Given the description of an element on the screen output the (x, y) to click on. 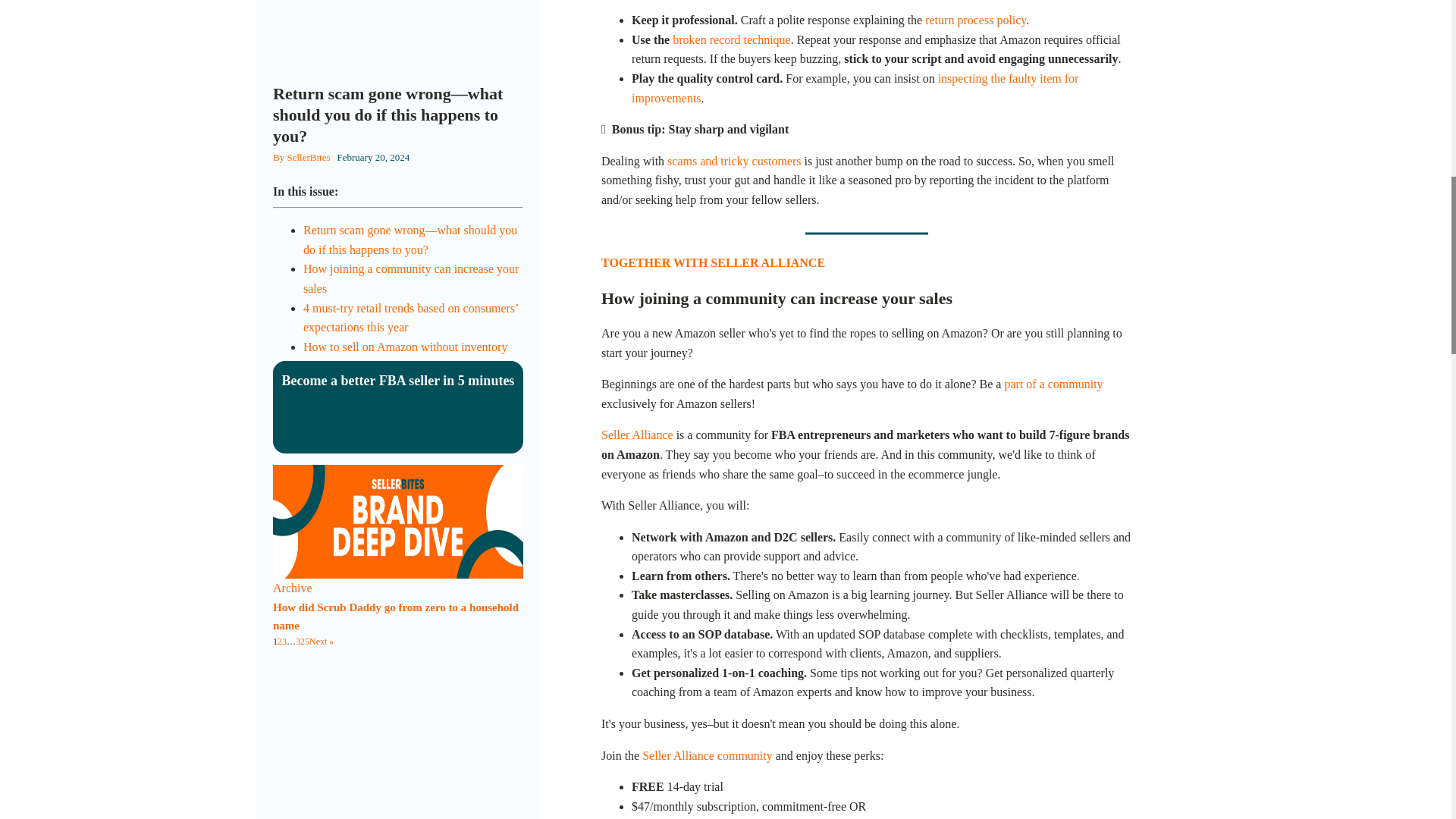
Seller Alliance (636, 434)
broken record technique (731, 39)
return process policy (975, 19)
inspecting the faulty item for improvements (854, 88)
part of a community (1053, 383)
scams and tricky customers (733, 160)
Seller Alliance community (706, 755)
